Given the description of an element on the screen output the (x, y) to click on. 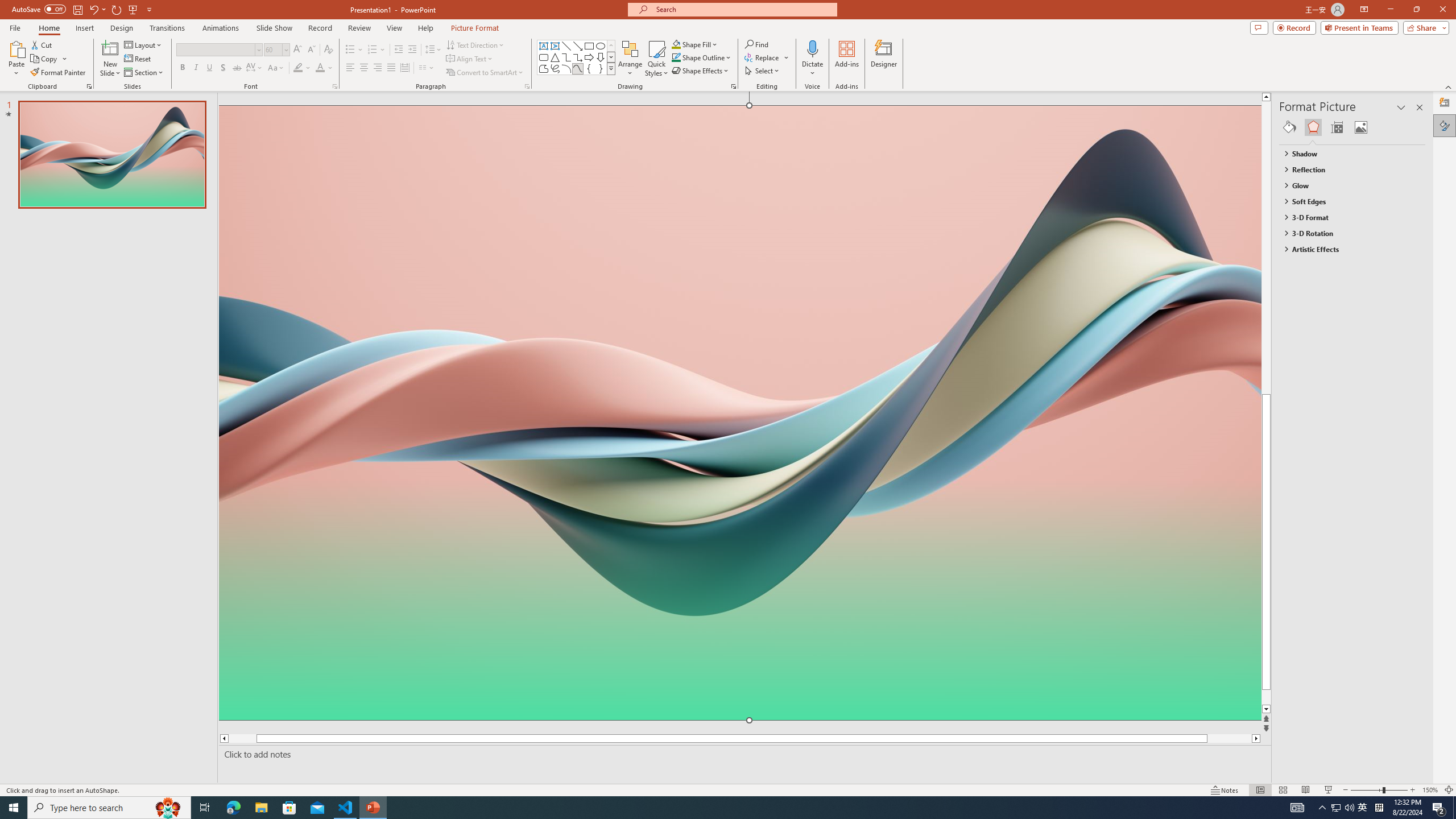
Fill & Line (1288, 126)
Effects (1313, 126)
Wavy 3D art (739, 412)
